Given the description of an element on the screen output the (x, y) to click on. 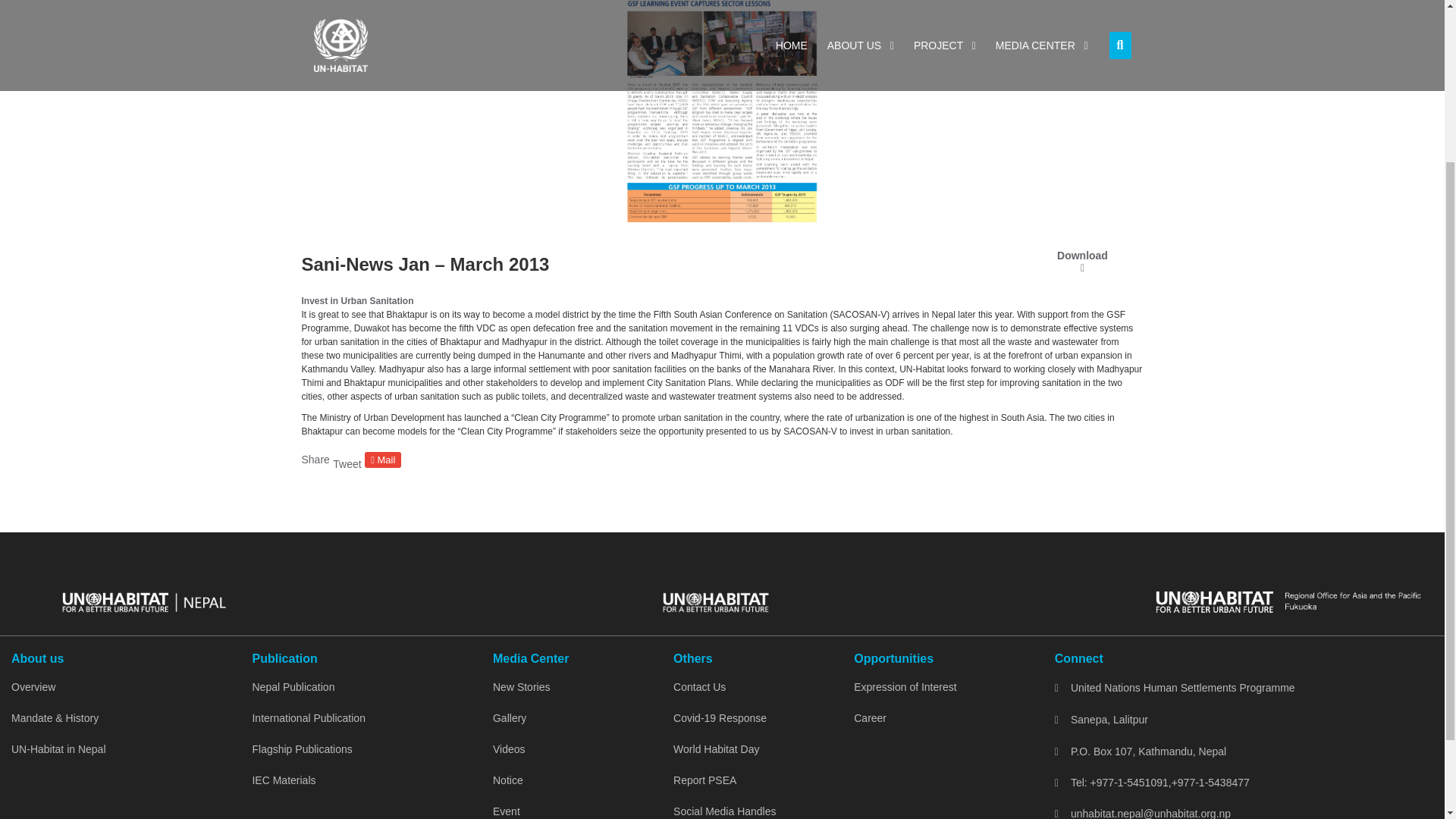
UN-Habitat in Nepal (119, 748)
Share (315, 459)
Mail (383, 459)
Overview (119, 686)
Tweet (347, 463)
